Given the description of an element on the screen output the (x, y) to click on. 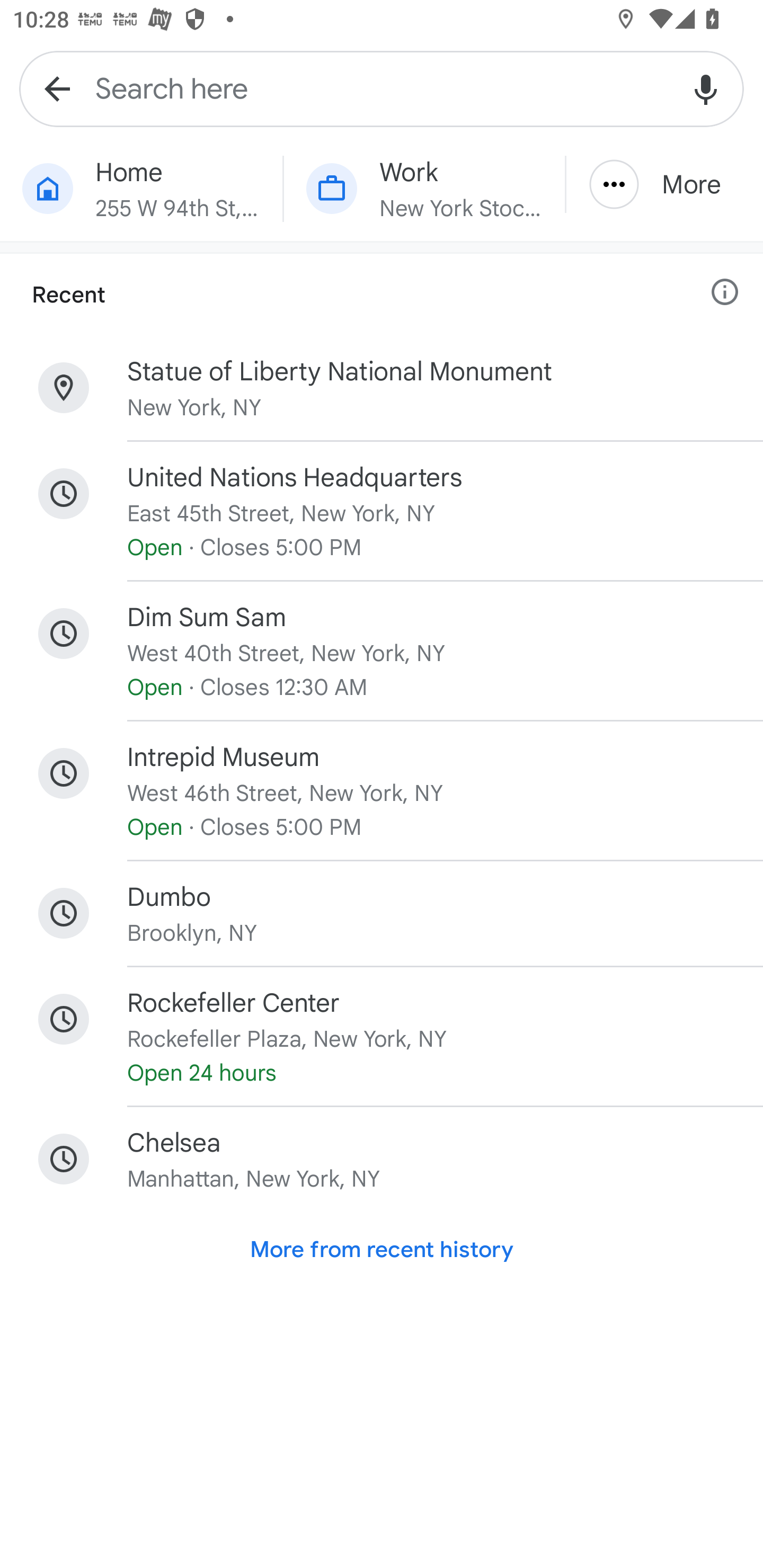
Navigate up (57, 88)
Search here (381, 88)
Voice search (705, 88)
More (664, 184)
Statue of Liberty National Monument New York, NY (381, 387)
Dumbo Brooklyn, NY (381, 912)
Chelsea Manhattan, New York, NY (381, 1159)
More from recent history (381, 1249)
